Given the description of an element on the screen output the (x, y) to click on. 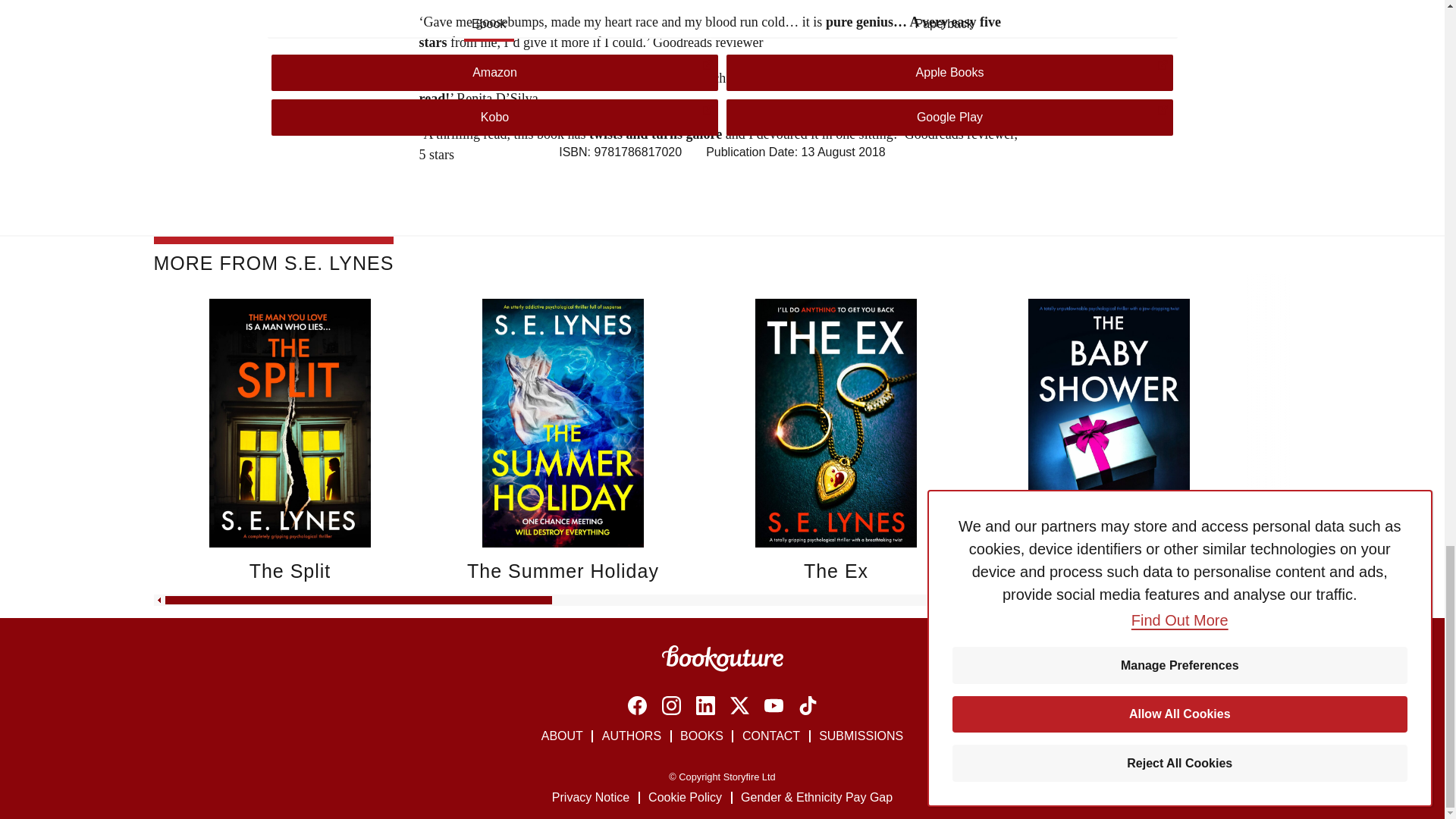
The Split (289, 570)
The Ex (835, 570)
The Summer Holiday (563, 570)
